Given the description of an element on the screen output the (x, y) to click on. 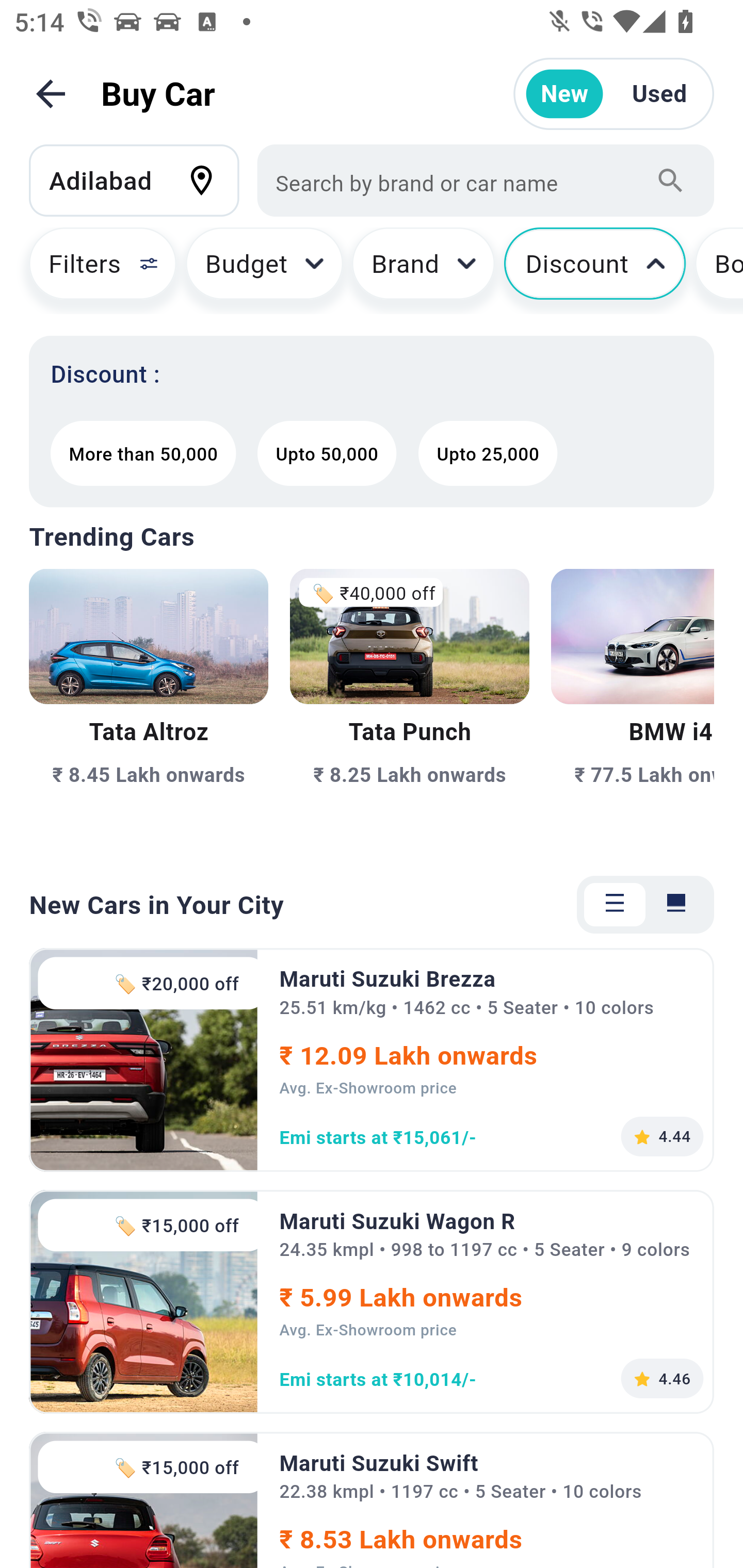
Back (50, 93)
New (564, 93)
Used (659, 93)
Adilabad (142, 180)
Filters (93, 270)
Budget (264, 270)
Brand (423, 270)
Discount (594, 270)
More than 50,000 (142, 453)
Upto 50,000 (326, 453)
Upto 25,000 (487, 453)
₹ 8.45 Lakh onwards Tata Altroz (148, 709)
🏷️ ₹40,000 off
₹ 8.25 Lakh onwards Tata Punch (409, 709)
₹ 77.5 Lakh onwards BMW i4 (632, 709)
Tab 1 of 2 (614, 904)
Tab 2 of 2 (675, 904)
